Given the description of an element on the screen output the (x, y) to click on. 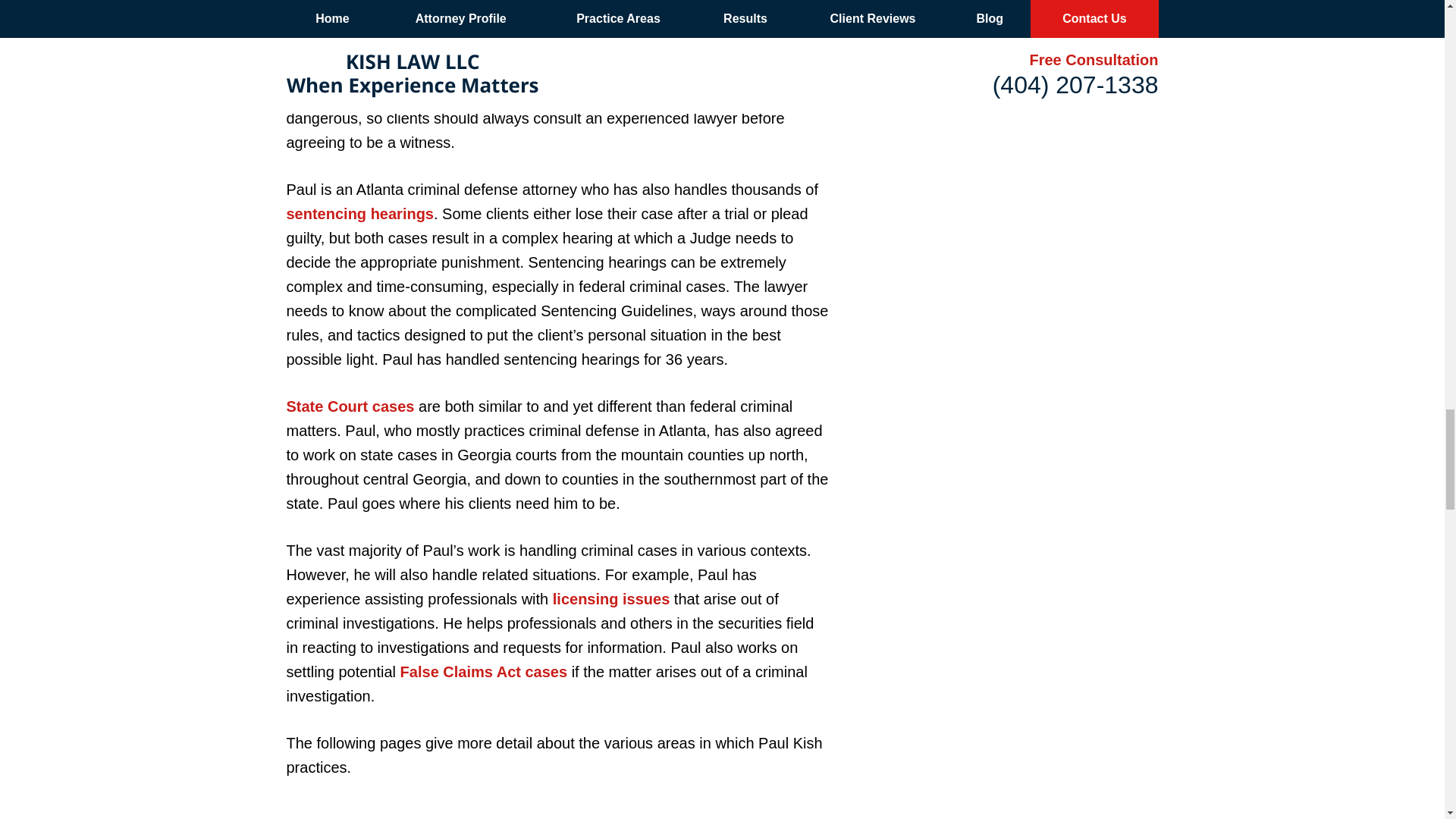
licensing issues (611, 598)
State Court cases (350, 406)
False Claims Act cases (483, 671)
sentencing hearings (359, 213)
